Given the description of an element on the screen output the (x, y) to click on. 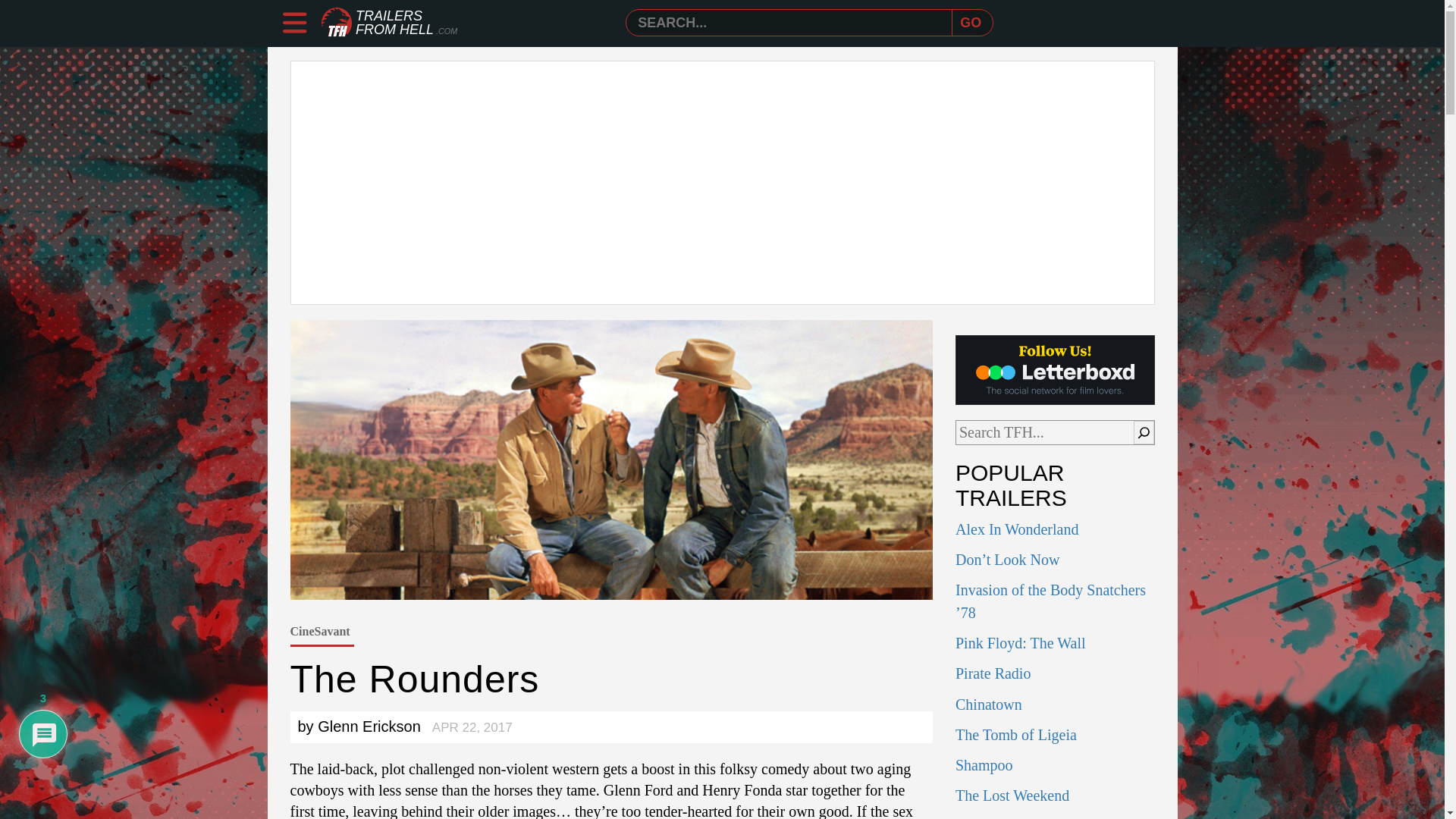
Trailers From Hell (336, 22)
CineSavant (319, 631)
GO (970, 22)
Search for: (792, 22)
GO (970, 22)
